Given the description of an element on the screen output the (x, y) to click on. 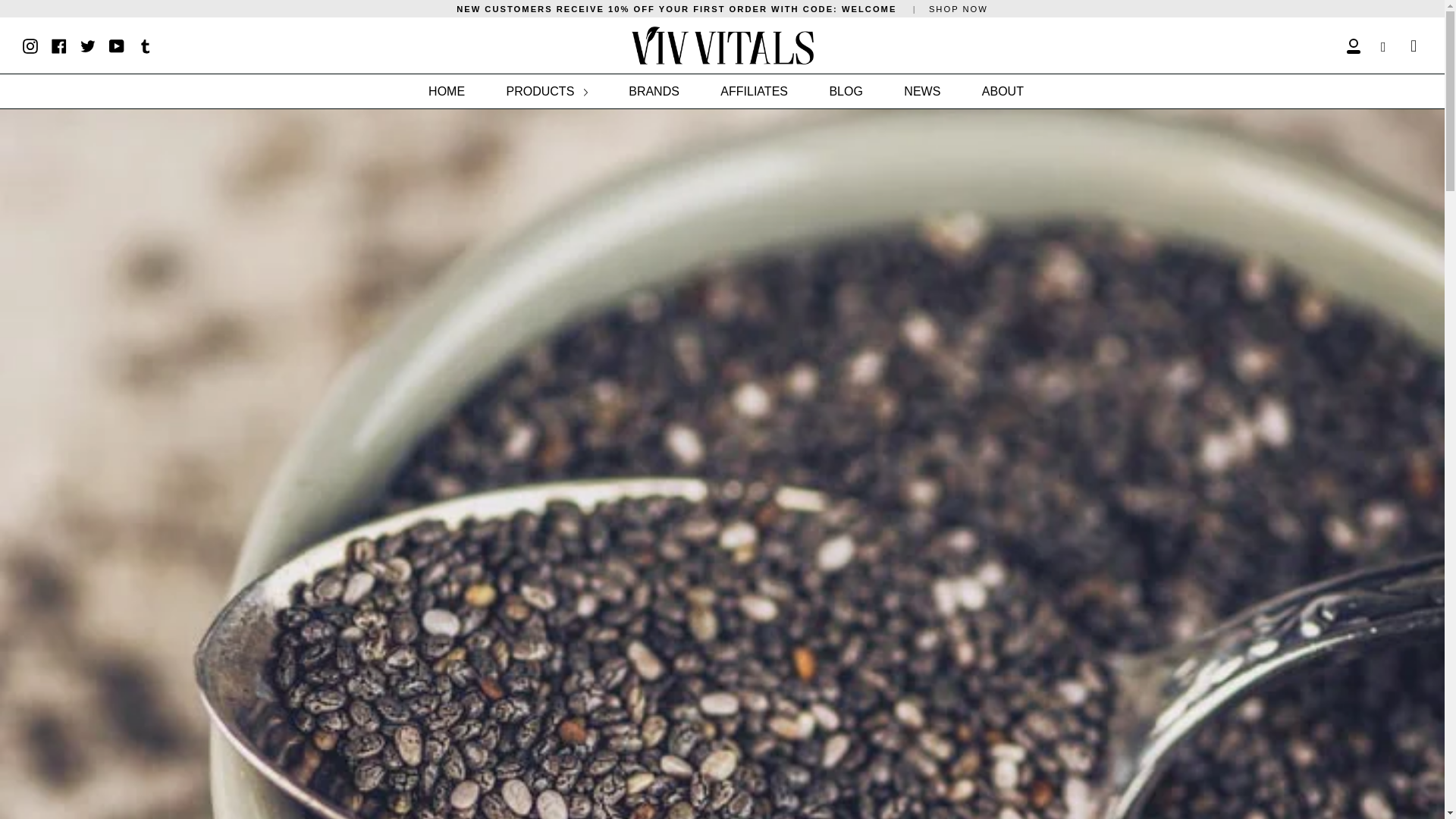
Facebook (58, 44)
HOME (446, 91)
VIV Vitals on Facebook (58, 44)
VIV Vitals on Instagram (30, 44)
PRODUCTS (546, 91)
Instagram (30, 44)
Twitter (88, 44)
VIV Vitals on YouTube (116, 44)
VIV Vitals on Twitter (88, 44)
YouTube (116, 44)
